Given the description of an element on the screen output the (x, y) to click on. 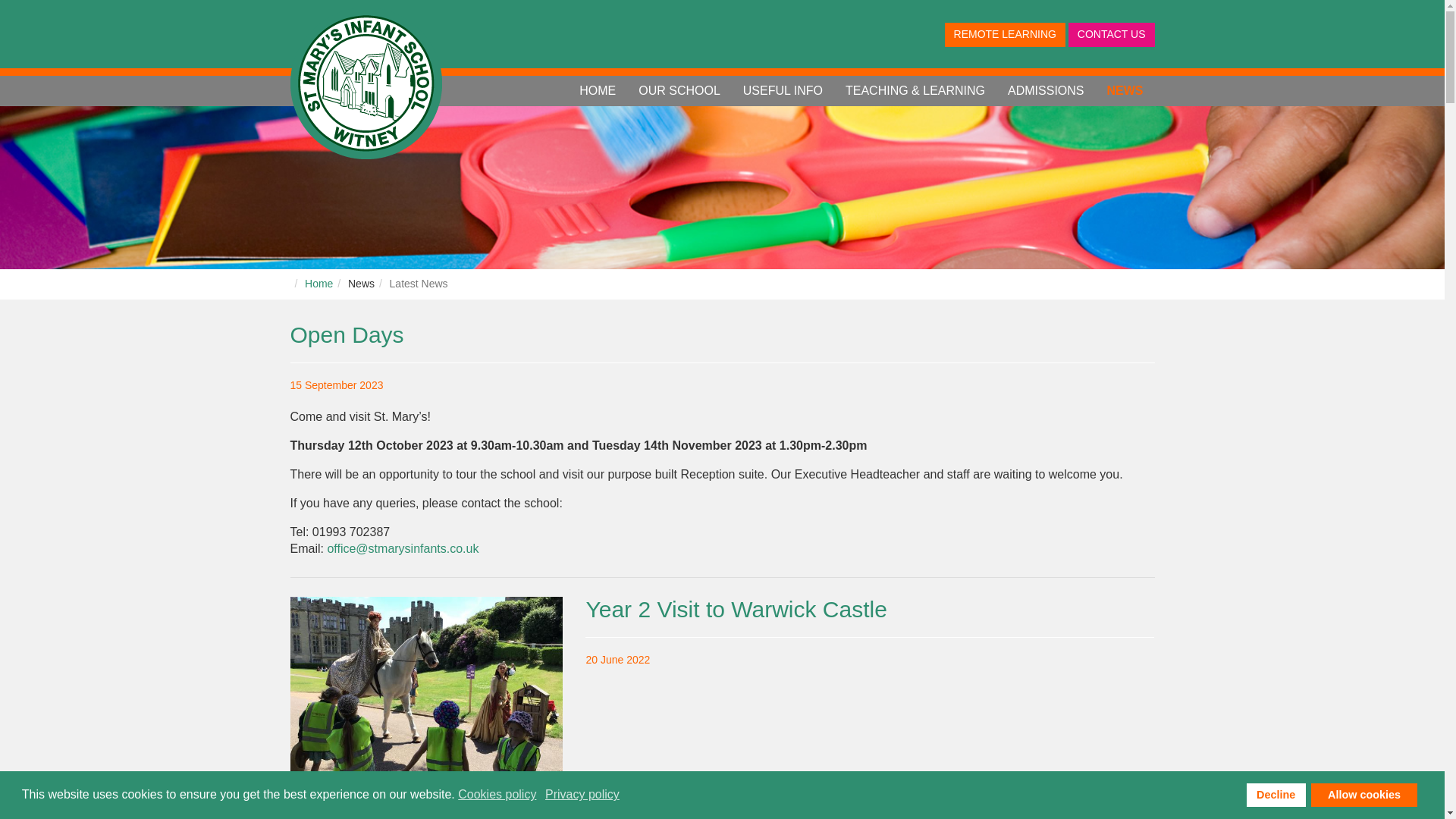
Allow cookies (1363, 794)
Privacy policy (582, 794)
Decline (1276, 794)
Cookies policy (498, 794)
